Given the description of an element on the screen output the (x, y) to click on. 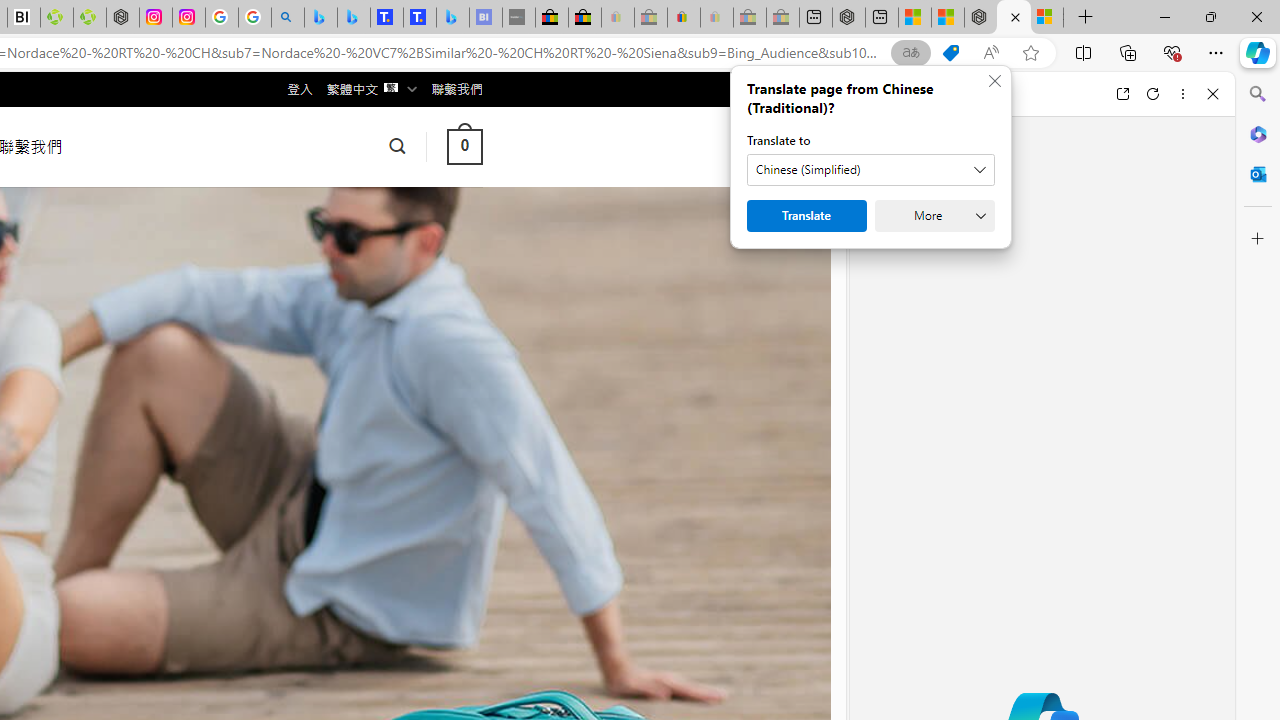
  0   (464, 146)
alabama high school quarterback dies - Search (287, 17)
Outlook (1258, 174)
Microsoft Bing Travel - Stays in Bangkok, Bangkok, Thailand (353, 17)
